Given the description of an element on the screen output the (x, y) to click on. 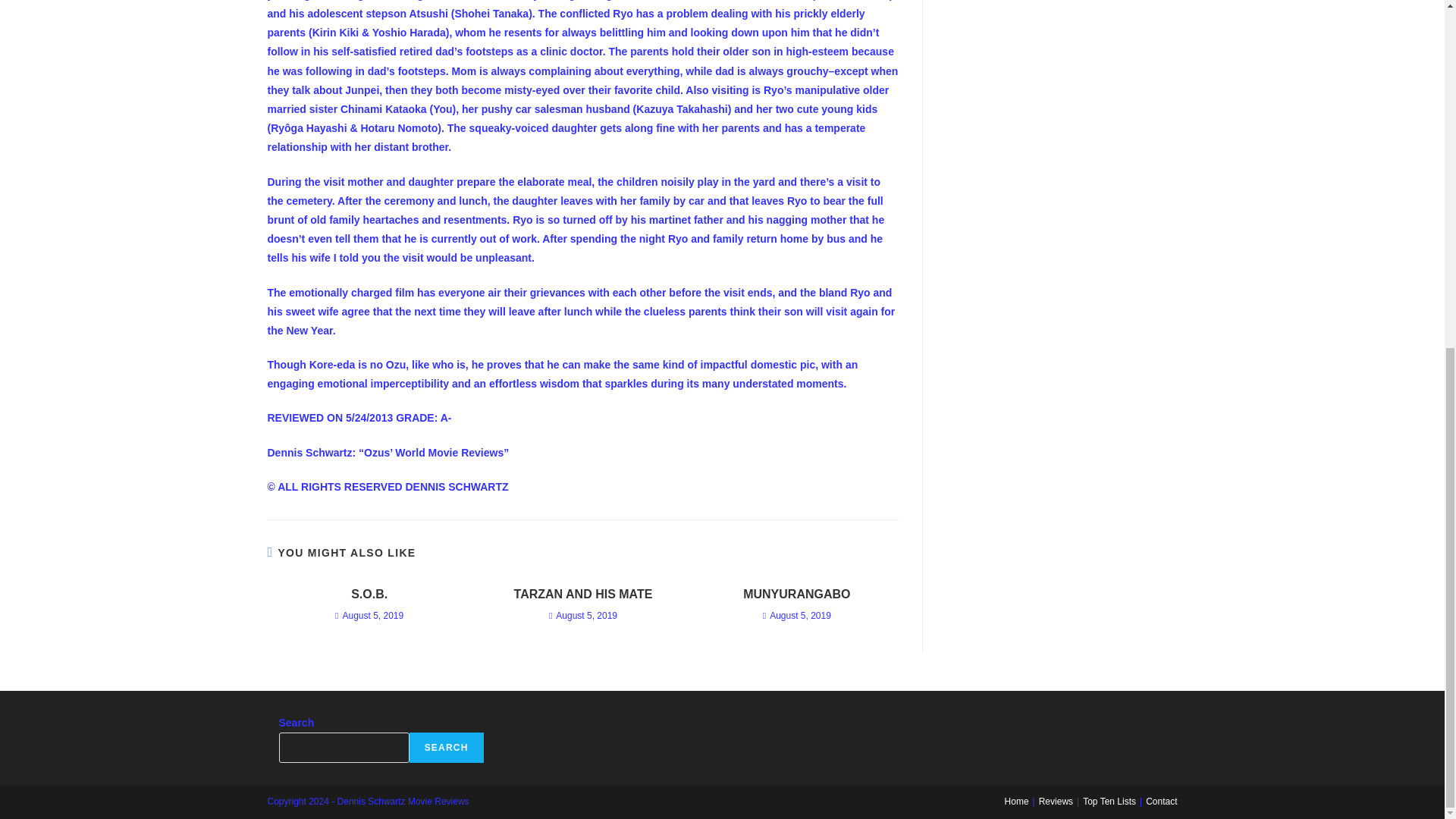
SEARCH (446, 747)
Top Ten Lists (1109, 801)
TARZAN AND HIS MATE (582, 594)
Reviews (1056, 801)
MUNYURANGABO (796, 594)
S.O.B. (368, 594)
Home (1016, 801)
Contact (1160, 801)
